Given the description of an element on the screen output the (x, y) to click on. 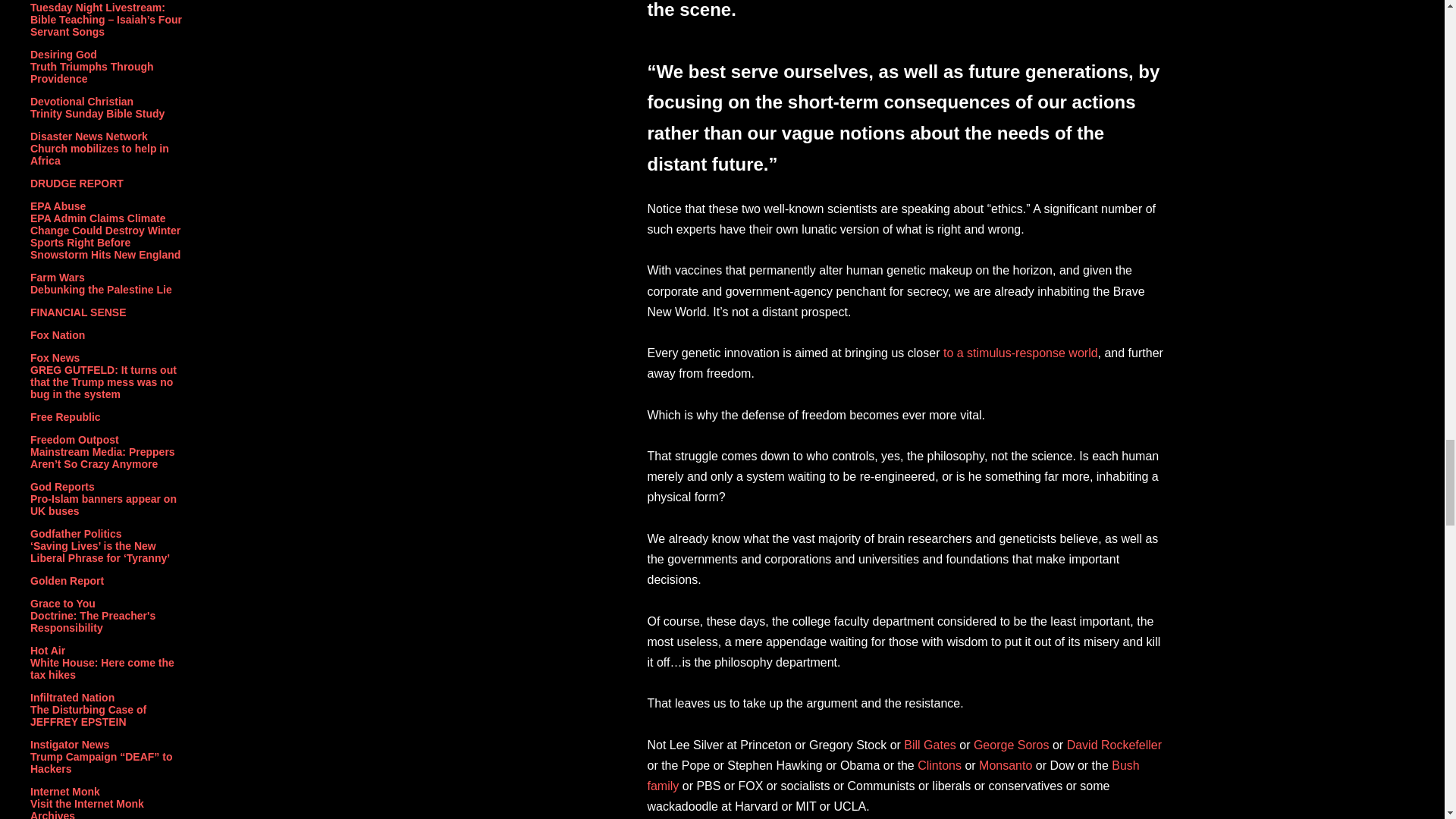
Monsanto (1005, 765)
Bill Gates (929, 744)
George Soros (1011, 744)
Bush family (893, 775)
to a stimulus-response world (1020, 352)
Clintons (938, 765)
David Rockefeller (1114, 744)
